Given the description of an element on the screen output the (x, y) to click on. 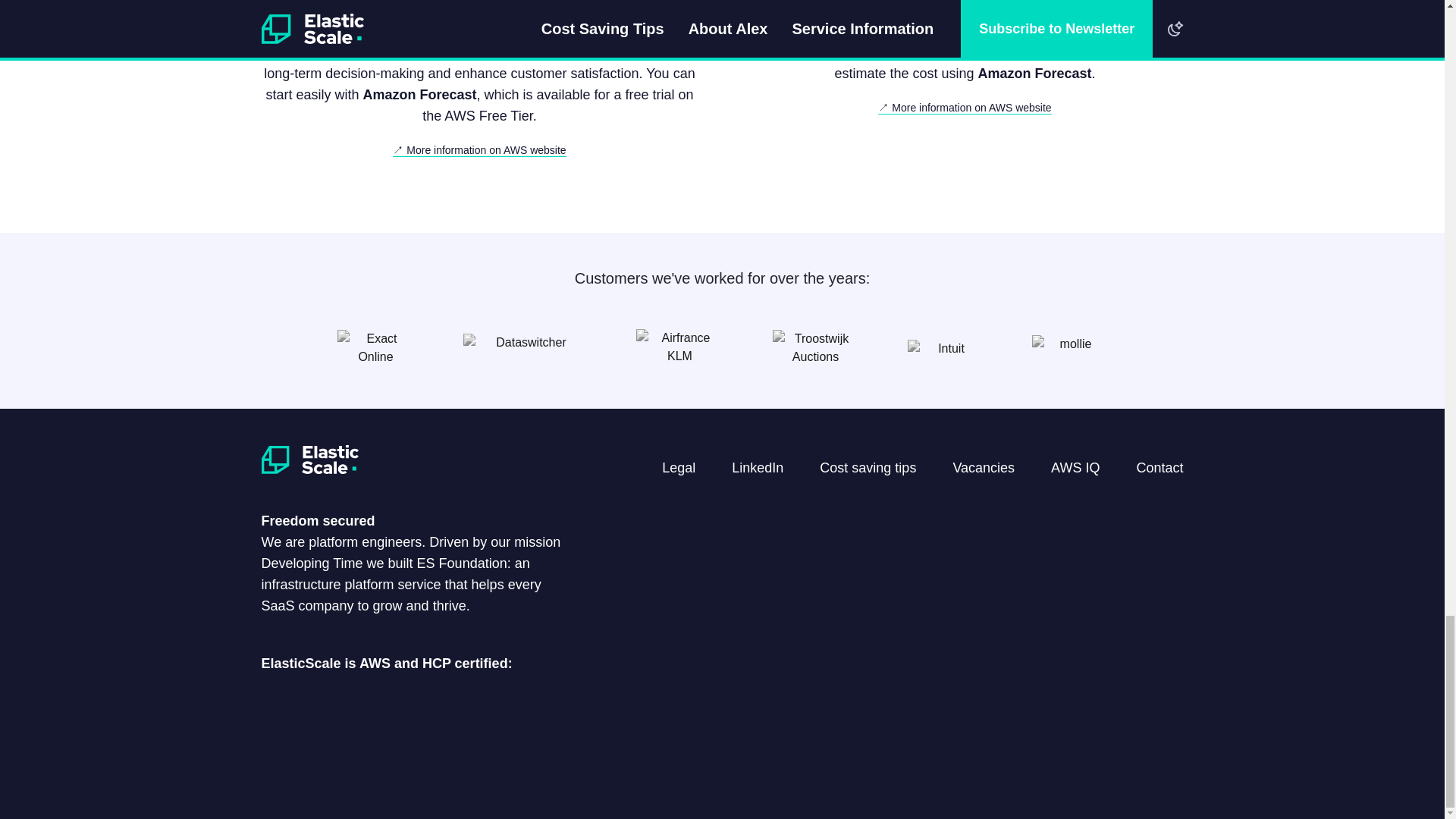
Legal (678, 467)
Contact (1158, 467)
LinkedIn (757, 467)
Vacancies (983, 467)
Cost saving tips (867, 467)
AWS IQ (1075, 467)
